Given the description of an element on the screen output the (x, y) to click on. 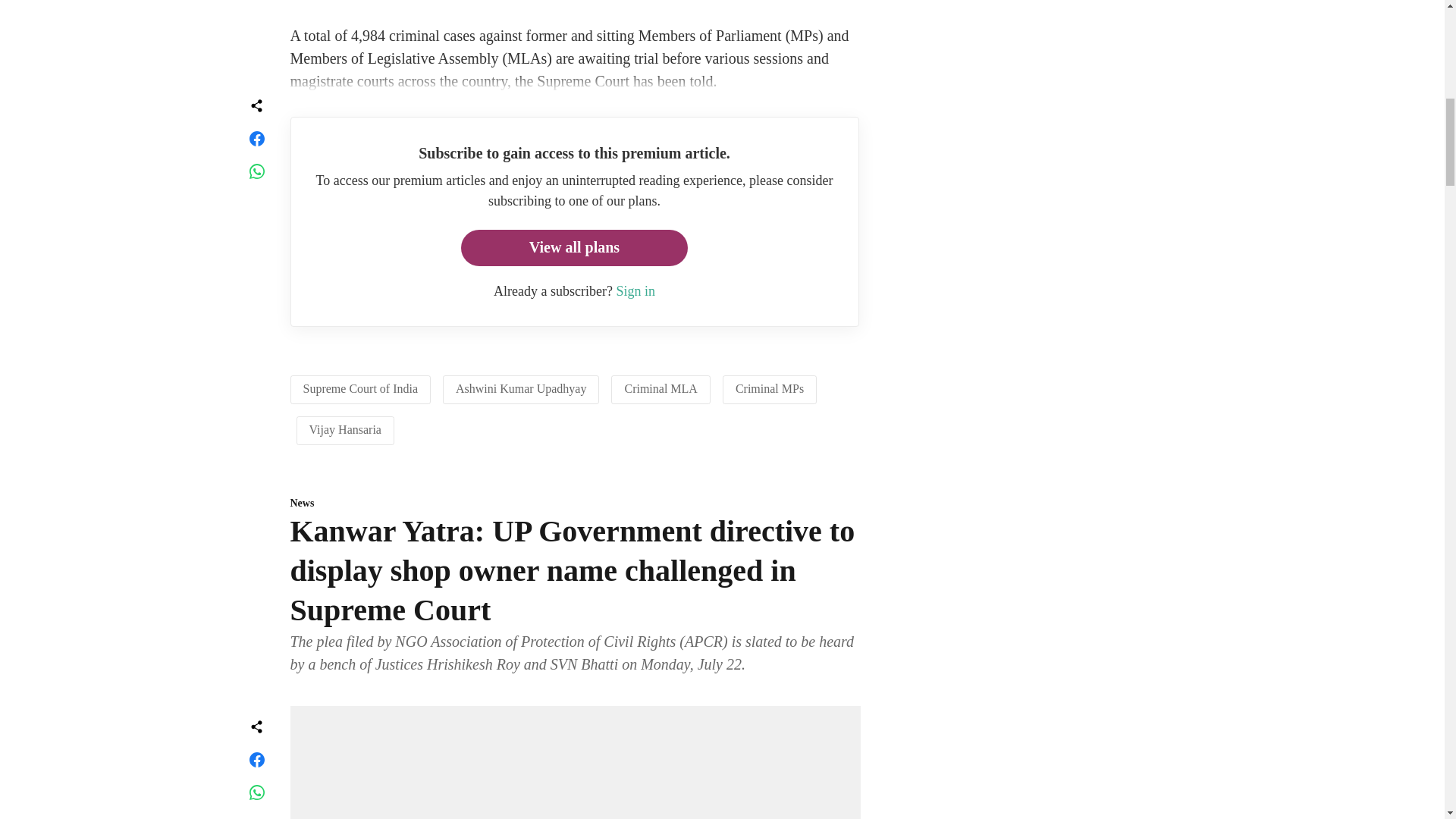
Ashwini Kumar Upadhyay (520, 388)
Criminal MPs (769, 388)
Criminal MLA (660, 388)
Vijay Hansaria (344, 429)
Supreme Court of India (360, 388)
3rd party ad content (1015, 777)
News (574, 503)
